Given the description of an element on the screen output the (x, y) to click on. 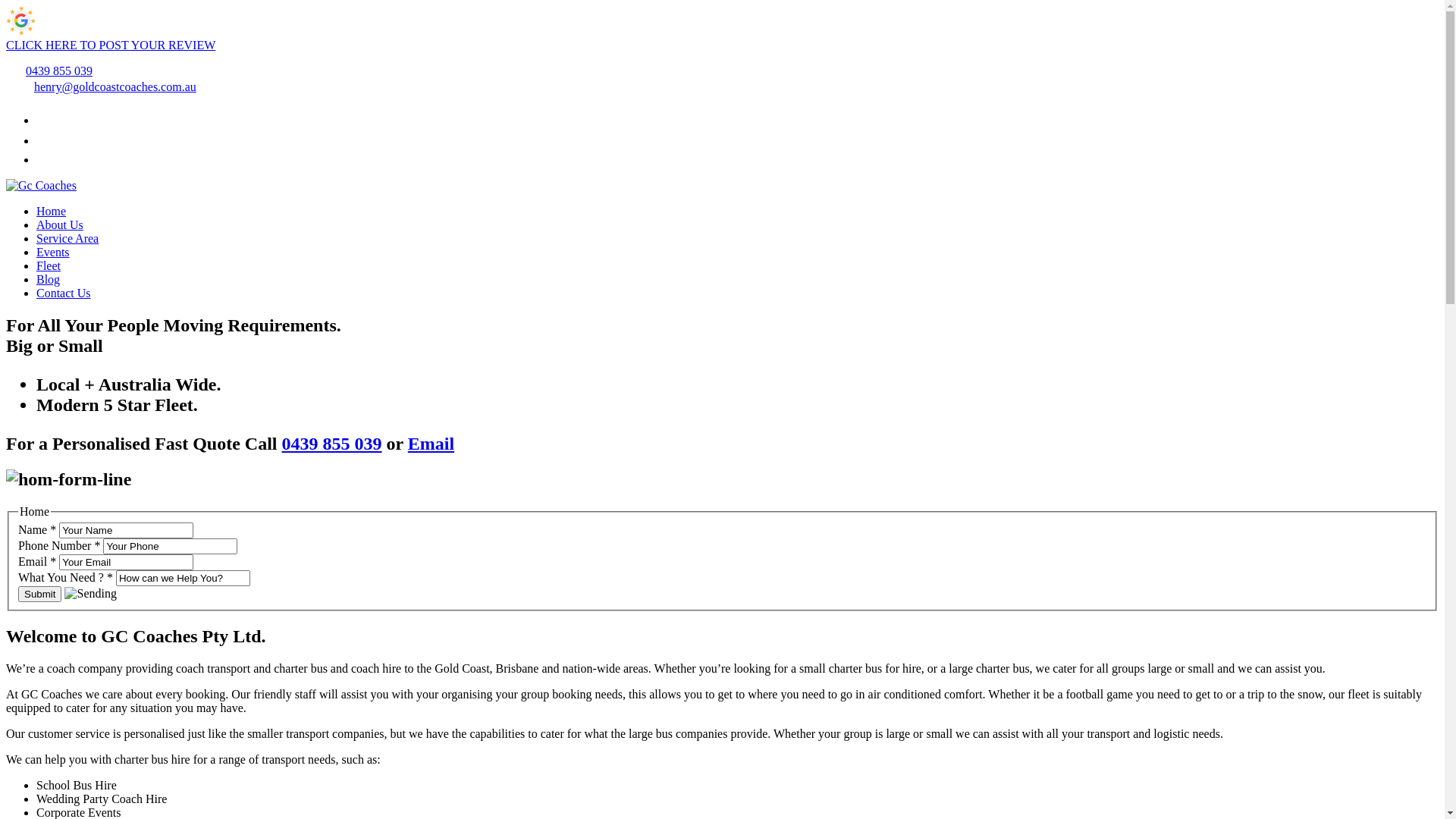
0439 855 039 Element type: text (332, 443)
Blog Element type: text (47, 279)
Submit Element type: text (39, 594)
CLICK HERE TO POST YOUR REVIEW Element type: text (110, 44)
Events Element type: text (52, 251)
Fleet Element type: text (48, 265)
E-mail Now Element type: hover (18, 86)
Service Area Element type: text (67, 238)
Call Now Element type: hover (14, 70)
0439 855 039 Element type: text (58, 70)
Contact Us Element type: text (63, 292)
henry@goldcoastcoaches.com.au Element type: text (115, 86)
Home Element type: text (50, 210)
About Us Element type: text (59, 224)
Email Element type: text (430, 443)
